Given the description of an element on the screen output the (x, y) to click on. 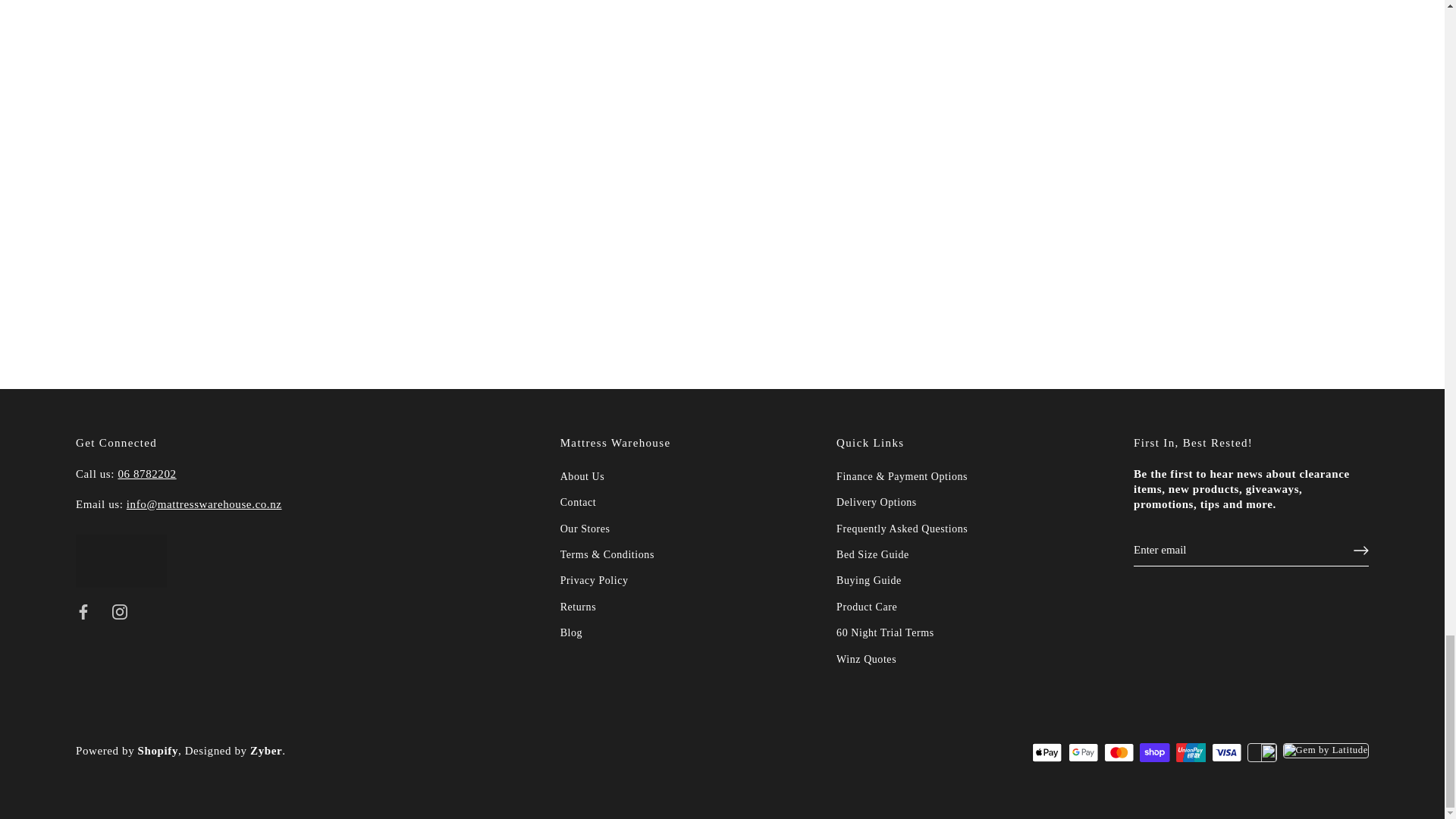
Union Pay (1190, 752)
Google Pay (1082, 752)
Instagram (120, 611)
Visa (1226, 752)
Shop Pay (1154, 752)
Apple Pay (1046, 752)
tel:06 8782202 (146, 473)
RIGHT ARROW LONG (1361, 549)
Mastercard (1118, 752)
